Given the description of an element on the screen output the (x, y) to click on. 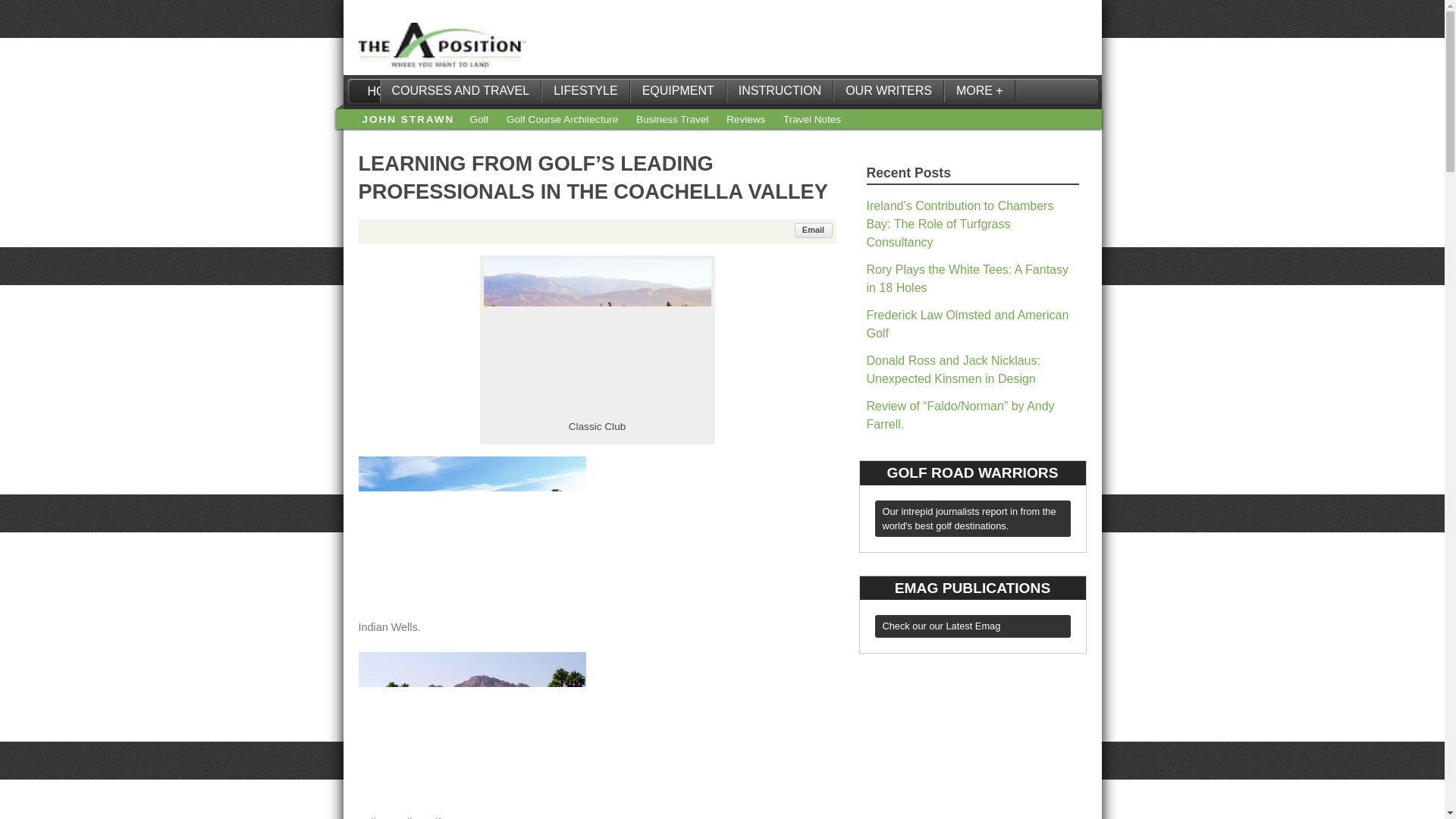
Business Travel (671, 119)
EQUIPMENT (678, 90)
OUR WRITERS (887, 90)
JOHN STRAWN (408, 119)
Golf Course Architecture (561, 119)
INSTRUCTION (779, 90)
Reviews (745, 119)
Golf (477, 119)
COURSES AND TRAVEL (459, 90)
Email (813, 230)
